Given the description of an element on the screen output the (x, y) to click on. 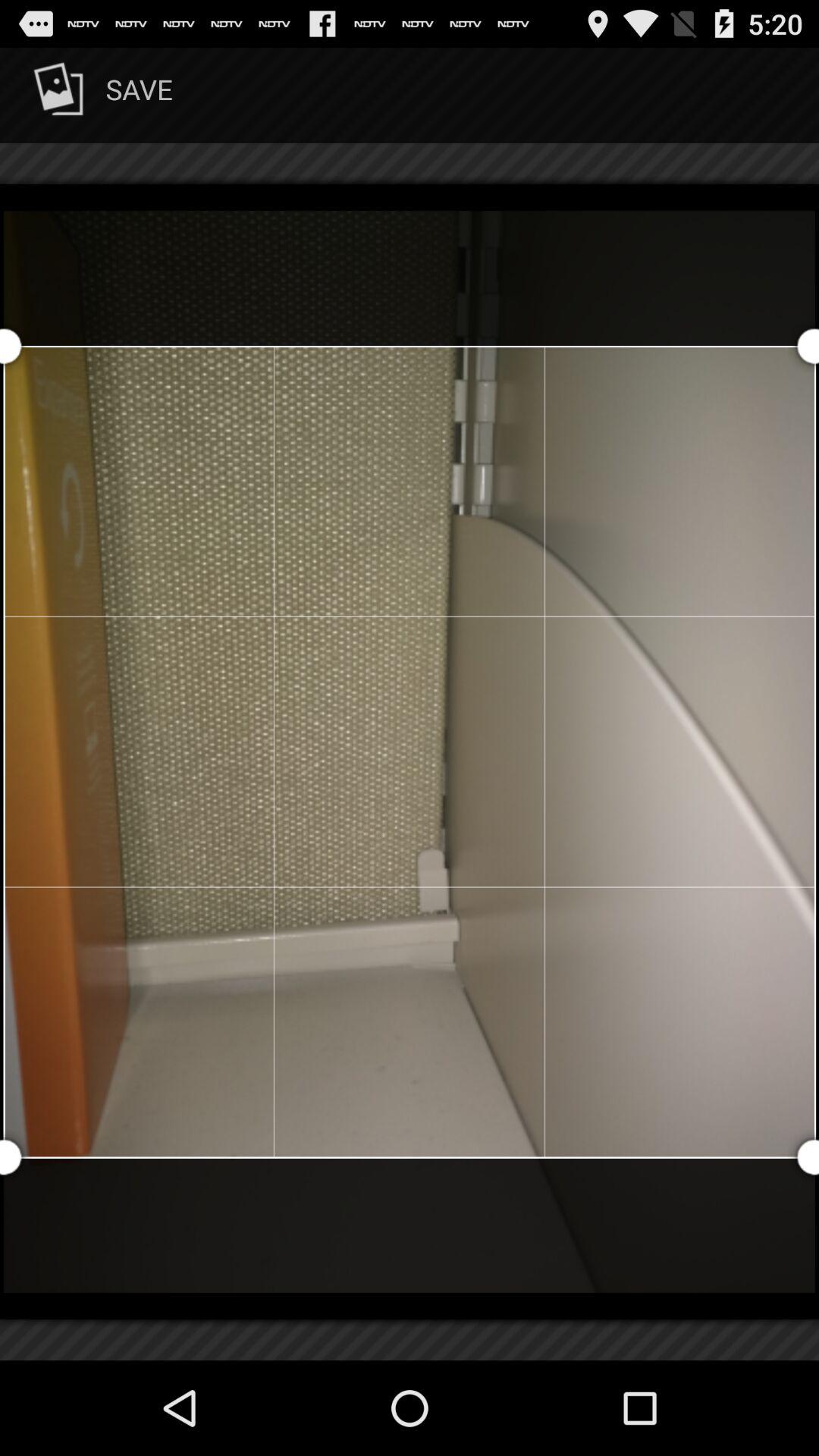
flip to save (100, 95)
